Given the description of an element on the screen output the (x, y) to click on. 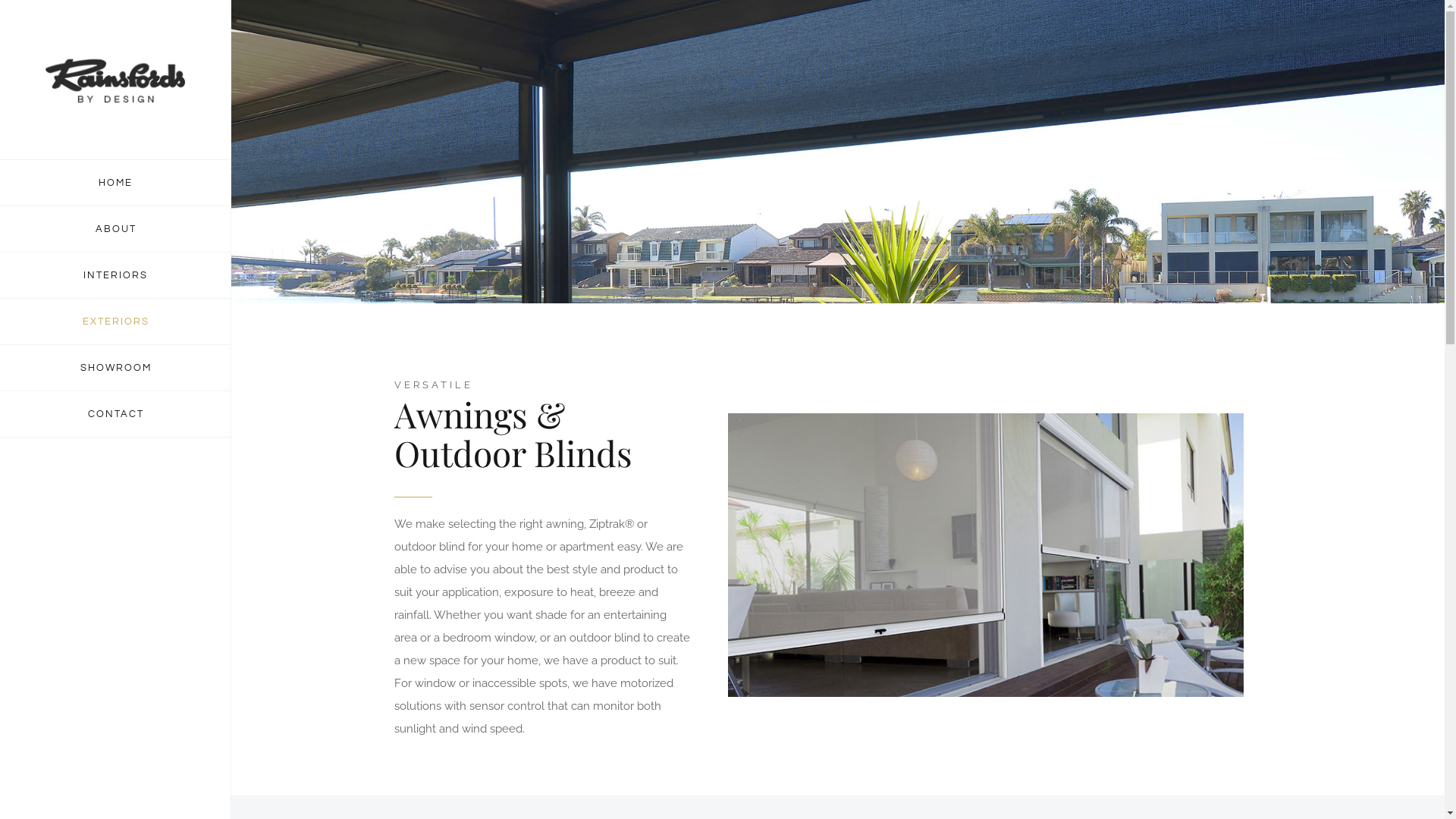
HOME Element type: text (115, 182)
Awnings4 Element type: hover (985, 554)
CONTACT Element type: text (115, 414)
EXTERIORS Element type: text (115, 321)
ABOUT Element type: text (115, 229)
SHOWROOM Element type: text (115, 368)
INTERIORS Element type: text (115, 275)
